Given the description of an element on the screen output the (x, y) to click on. 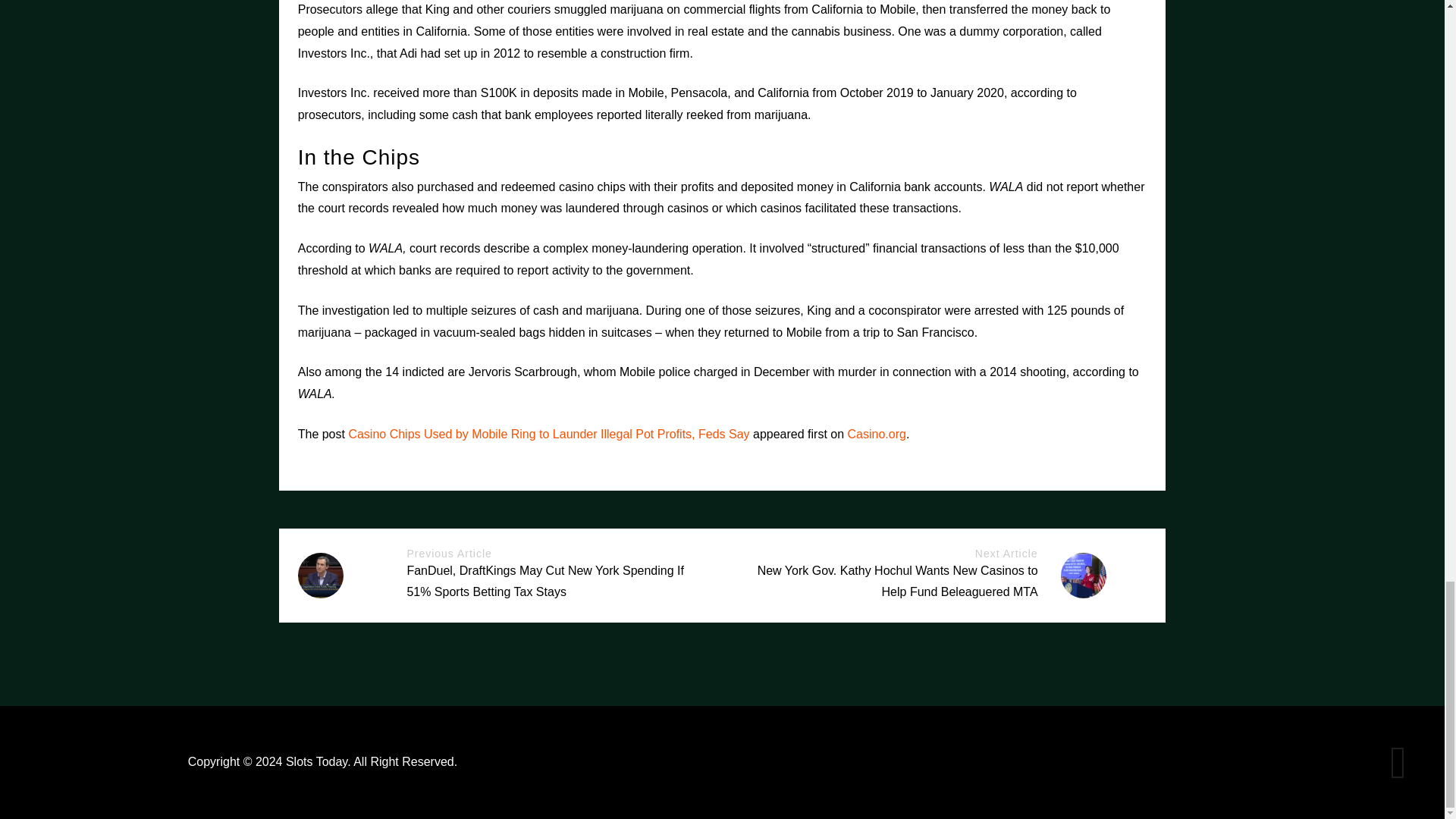
Casino.org (876, 433)
